Given the description of an element on the screen output the (x, y) to click on. 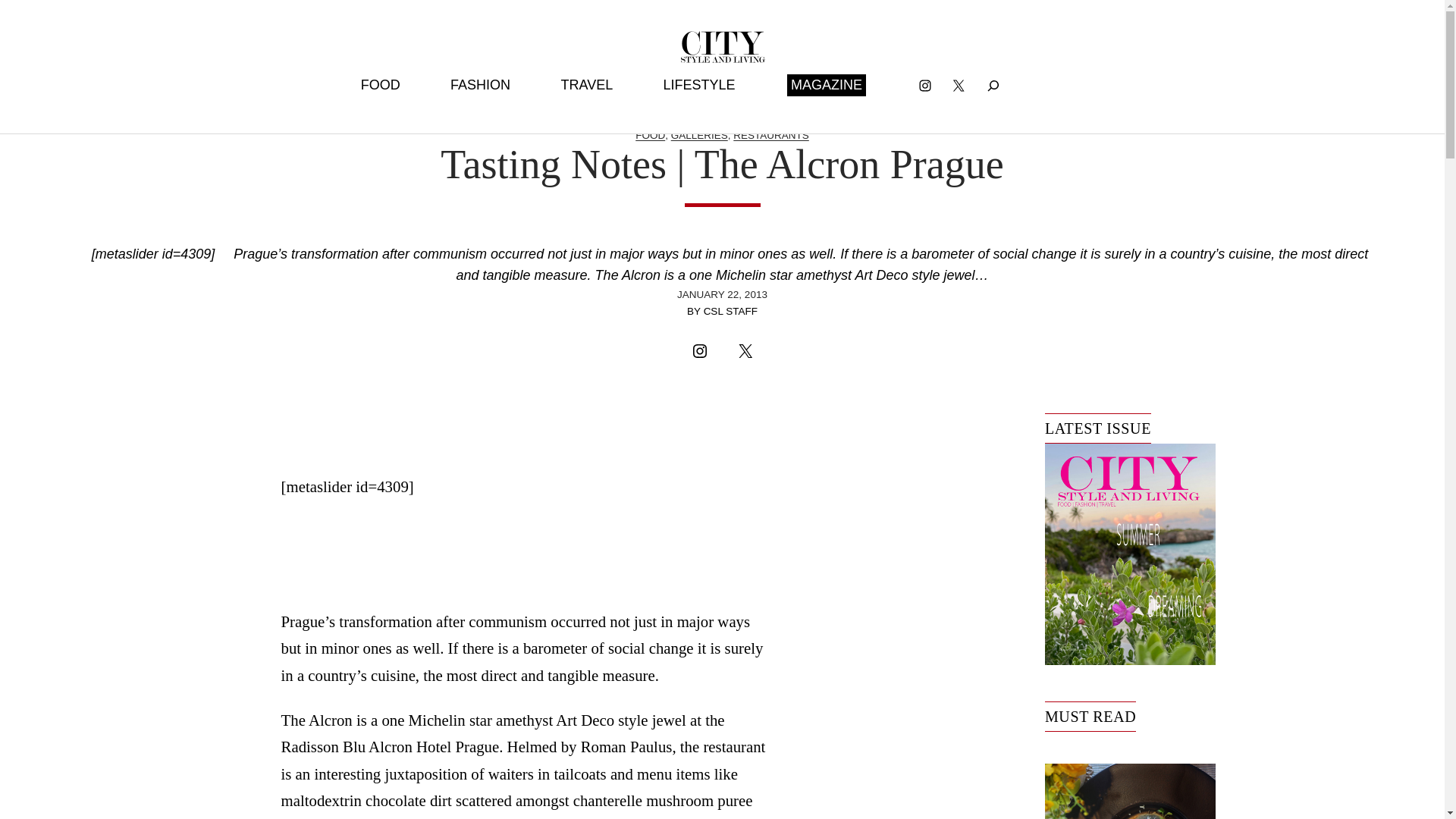
X (744, 350)
TRAVEL (586, 85)
RESTAURANTS (771, 134)
Instagram (699, 350)
FASHION (480, 85)
GALLERIES (699, 134)
MAGAZINE (826, 84)
X (958, 85)
FOOD (649, 134)
Instagram (925, 85)
FOOD (380, 85)
LIFESTYLE (699, 85)
